Given the description of an element on the screen output the (x, y) to click on. 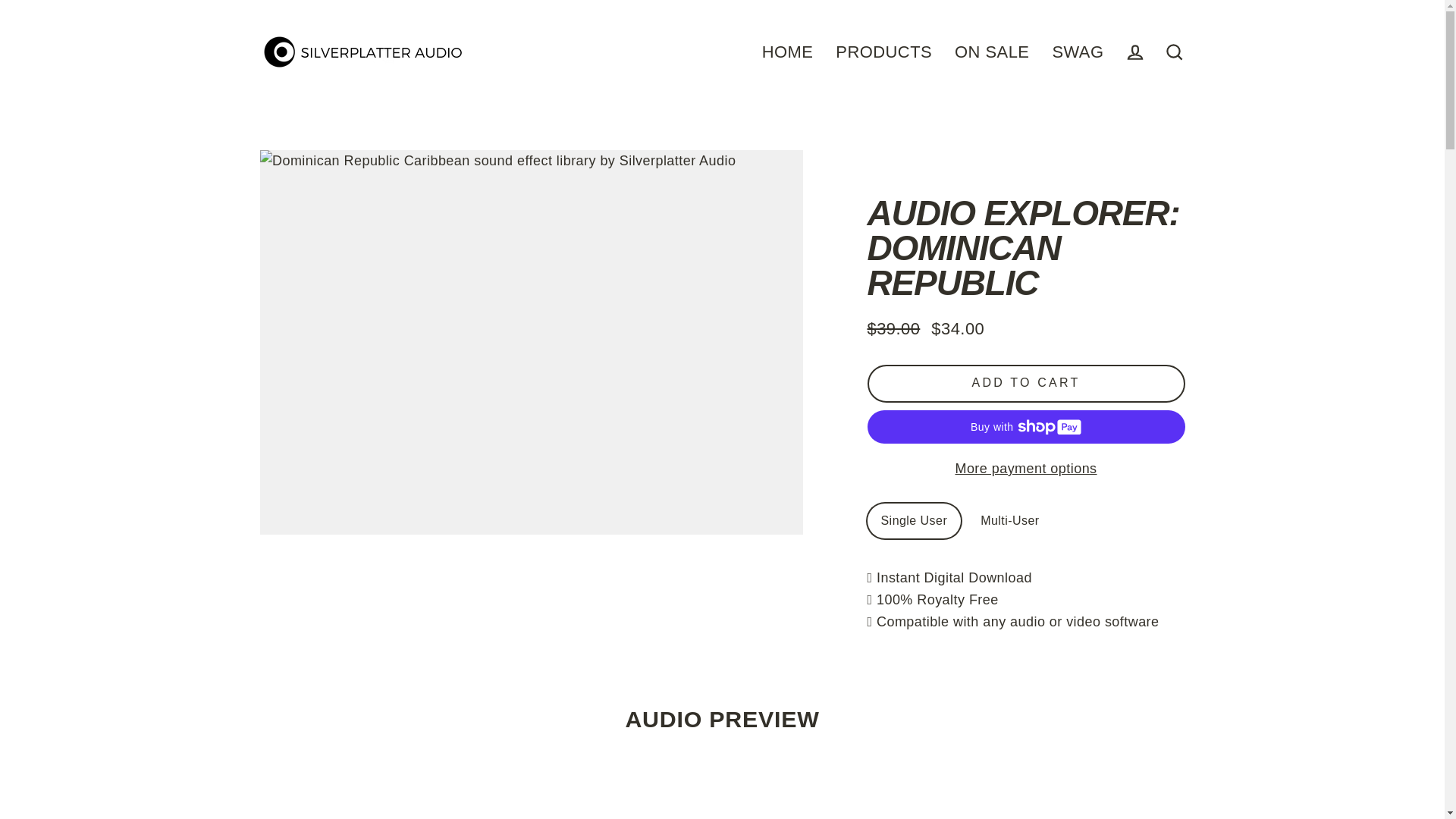
Search (1173, 51)
ON SALE (992, 52)
SWAG (1078, 52)
Log in (1134, 51)
HOME (788, 52)
ADD TO CART (1026, 383)
PRODUCTS (883, 52)
